Given the description of an element on the screen output the (x, y) to click on. 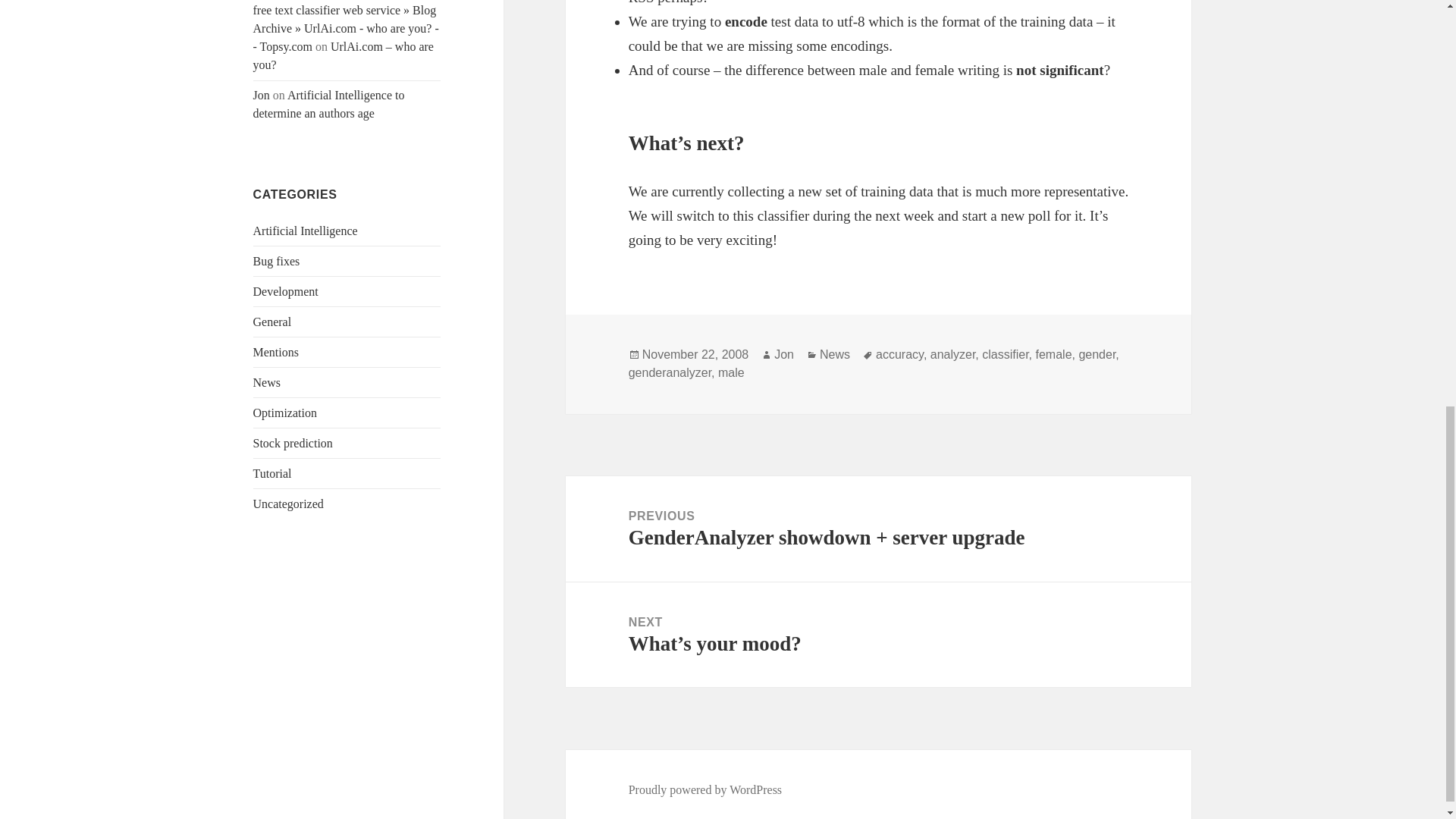
Jon (783, 354)
Optimization (285, 412)
Bug fixes (276, 260)
News (267, 382)
Uncategorized (288, 503)
Stock prediction (293, 442)
Development (285, 291)
analyzer (952, 354)
Artificial Intelligence (305, 230)
General (272, 321)
Artificial Intelligence to determine an authors age (328, 103)
News (834, 354)
Tutorial (272, 472)
November 22, 2008 (695, 354)
Mentions (275, 351)
